Given the description of an element on the screen output the (x, y) to click on. 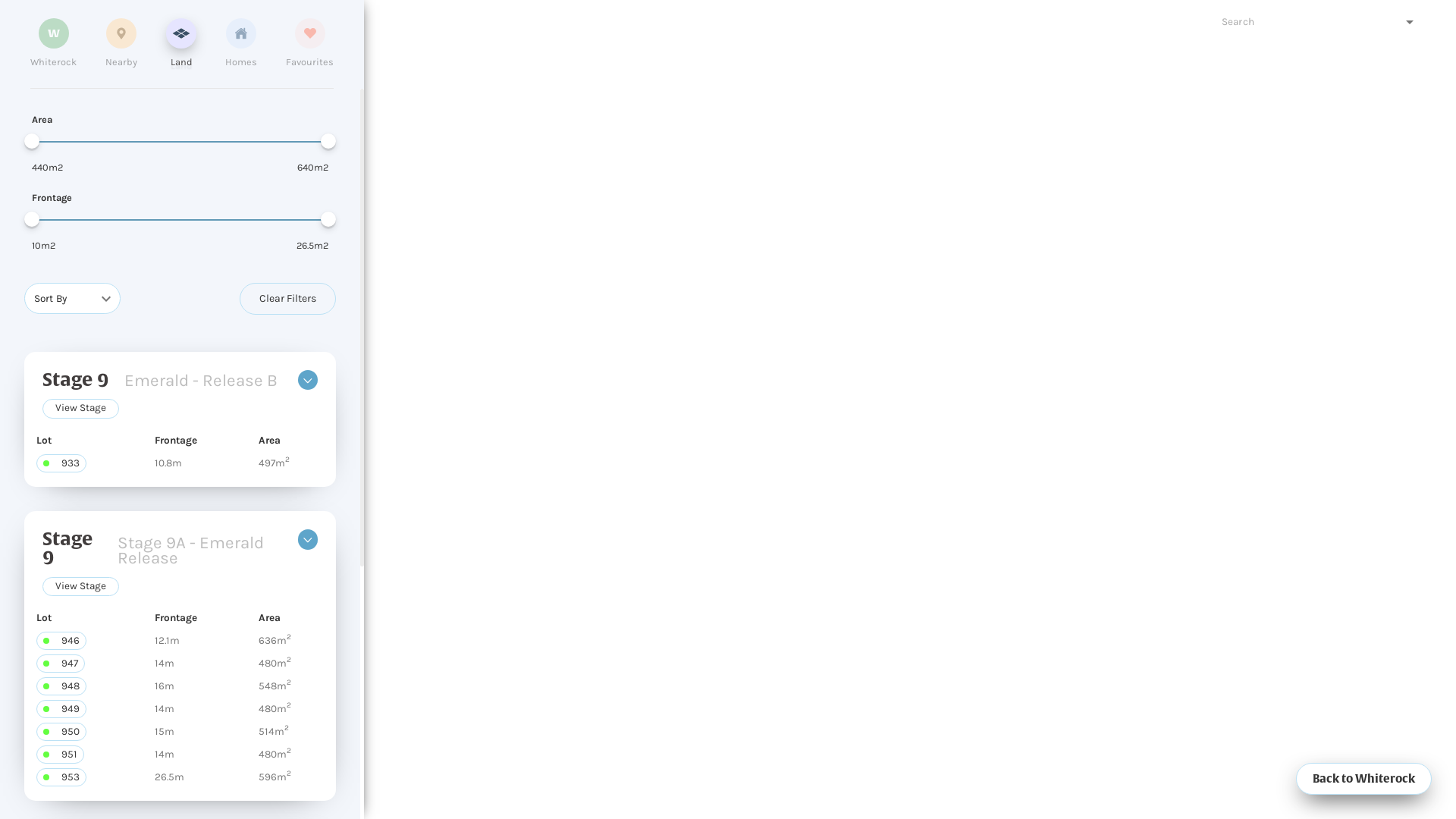
946 Element type: text (61, 640)
Clear Filters Element type: text (287, 298)
951 Element type: text (60, 754)
948 Element type: text (61, 686)
950 Element type: text (61, 731)
949 Element type: text (61, 708)
933 Element type: text (61, 463)
947 Element type: text (60, 663)
View Stage Element type: text (83, 586)
View Stage Element type: text (83, 407)
953 Element type: text (61, 777)
Open Element type: hover (1409, 21)
